Given the description of an element on the screen output the (x, y) to click on. 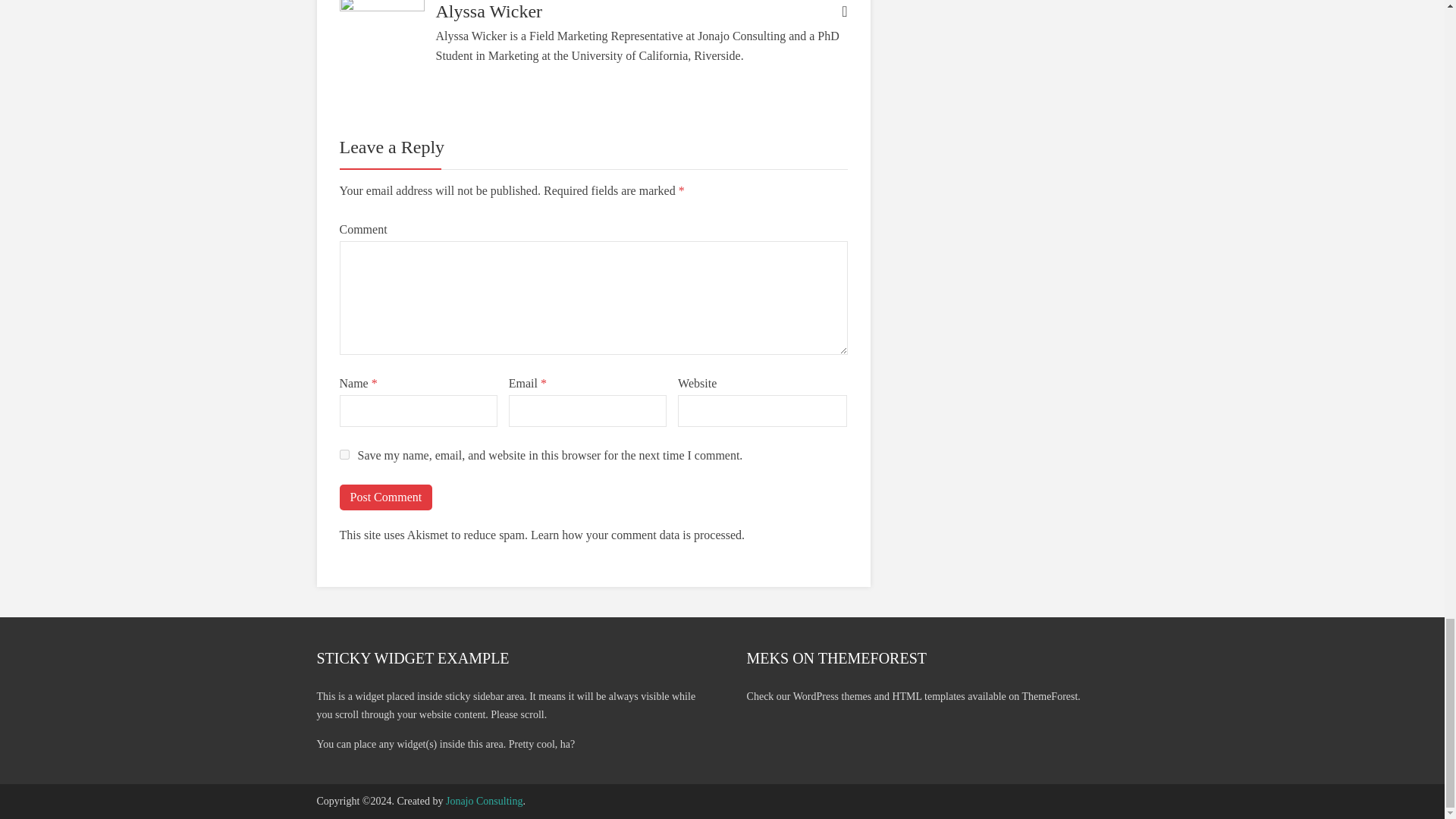
Post Comment (385, 497)
yes (344, 454)
Post Comment (385, 497)
Learn how your comment data is processed (636, 534)
